Given the description of an element on the screen output the (x, y) to click on. 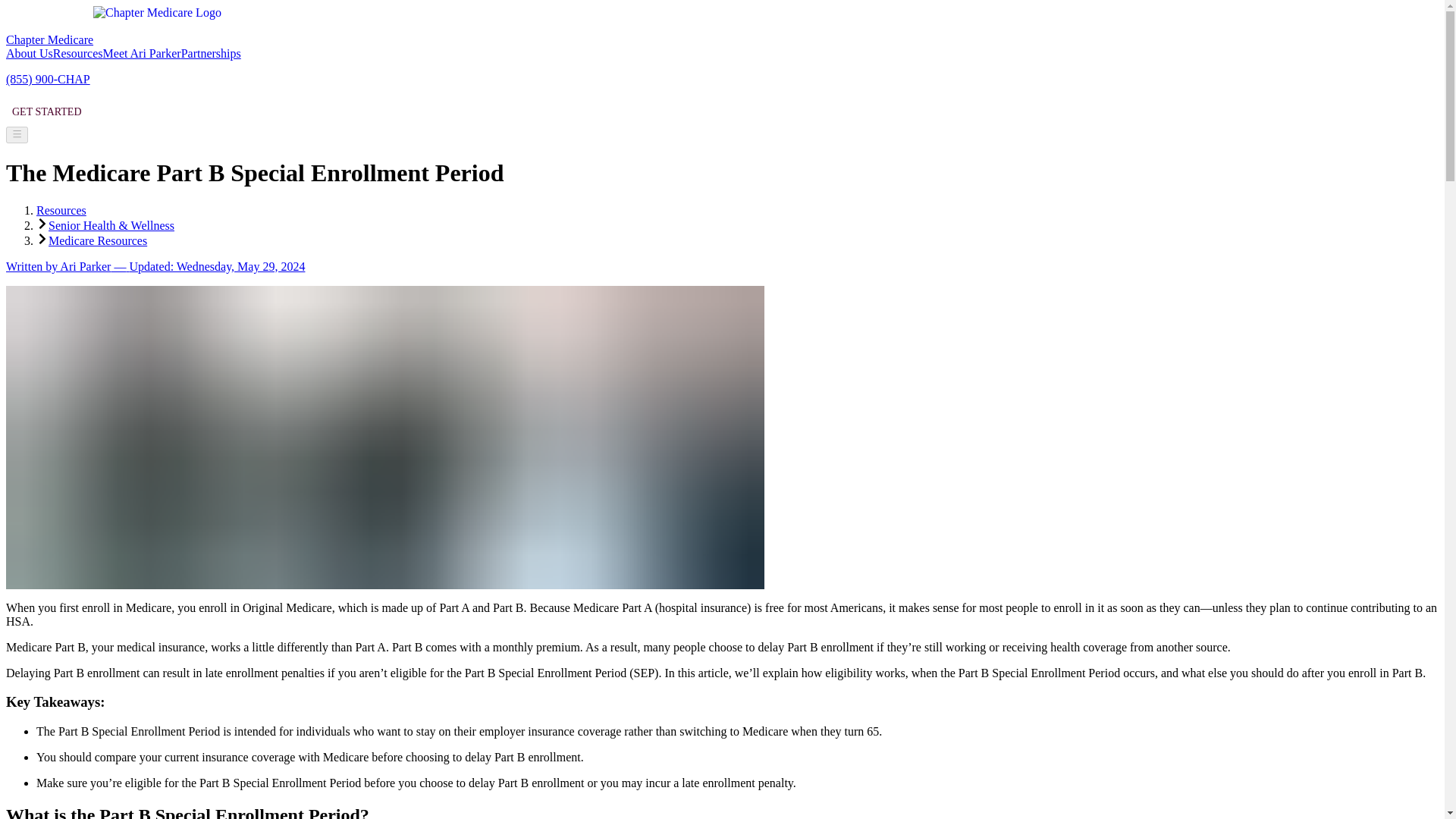
Resources (77, 52)
Resources (60, 210)
Meet Ari Parker (141, 52)
Partnerships (210, 52)
Medicare Resources (97, 240)
Chapter Medicare (124, 39)
GET STARTED (46, 112)
About Us (28, 52)
